Given the description of an element on the screen output the (x, y) to click on. 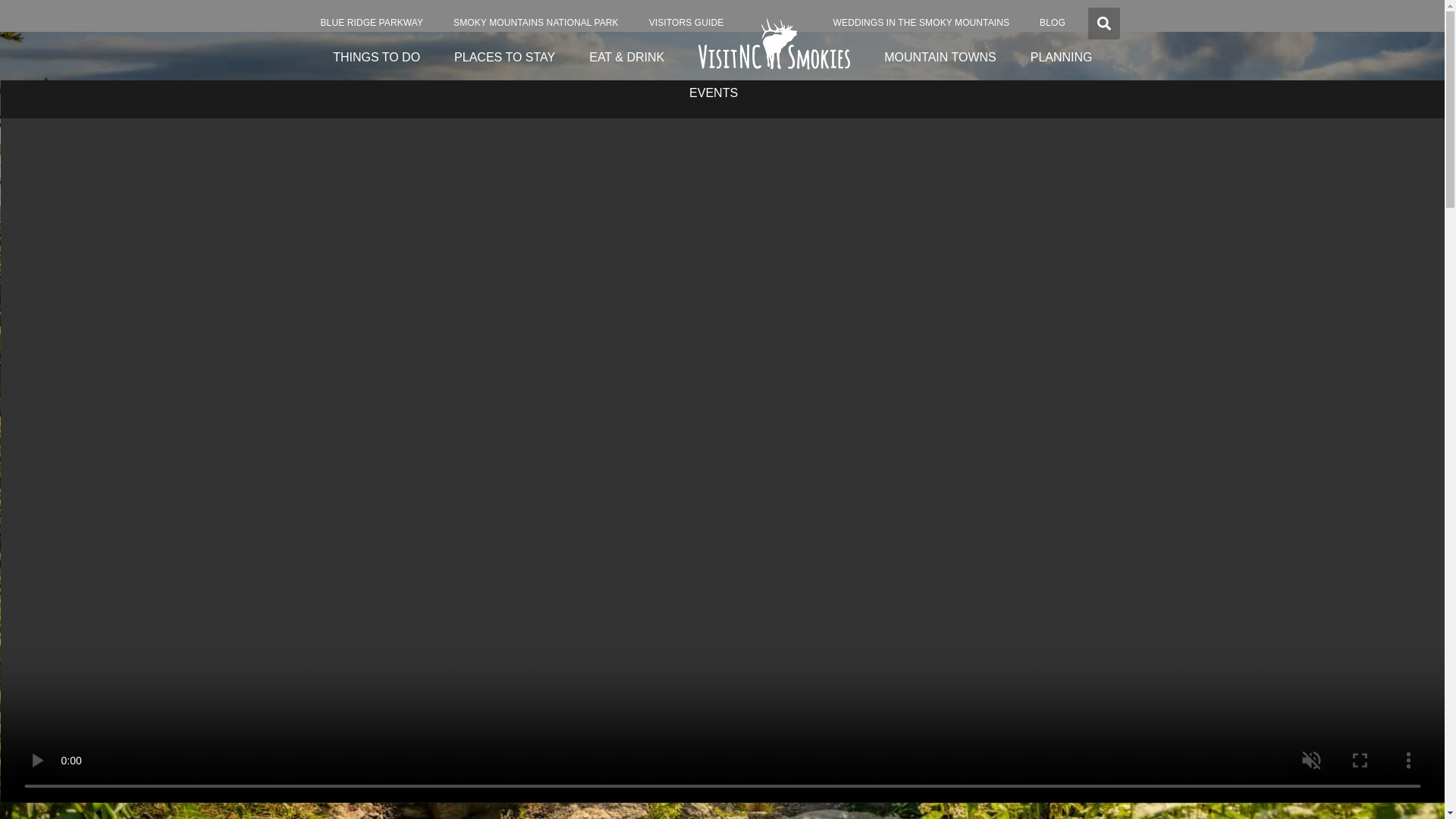
SMOKY MOUNTAINS NATIONAL PARK (535, 23)
PLANNING (1061, 57)
BLOG (1052, 23)
THINGS TO DO (376, 57)
WEDDINGS IN THE SMOKY MOUNTAINS (921, 23)
VISITORS GUIDE (686, 23)
BLUE RIDGE PARKWAY (371, 23)
PLACES TO STAY (504, 57)
MOUNTAIN TOWNS (940, 57)
